Given the description of an element on the screen output the (x, y) to click on. 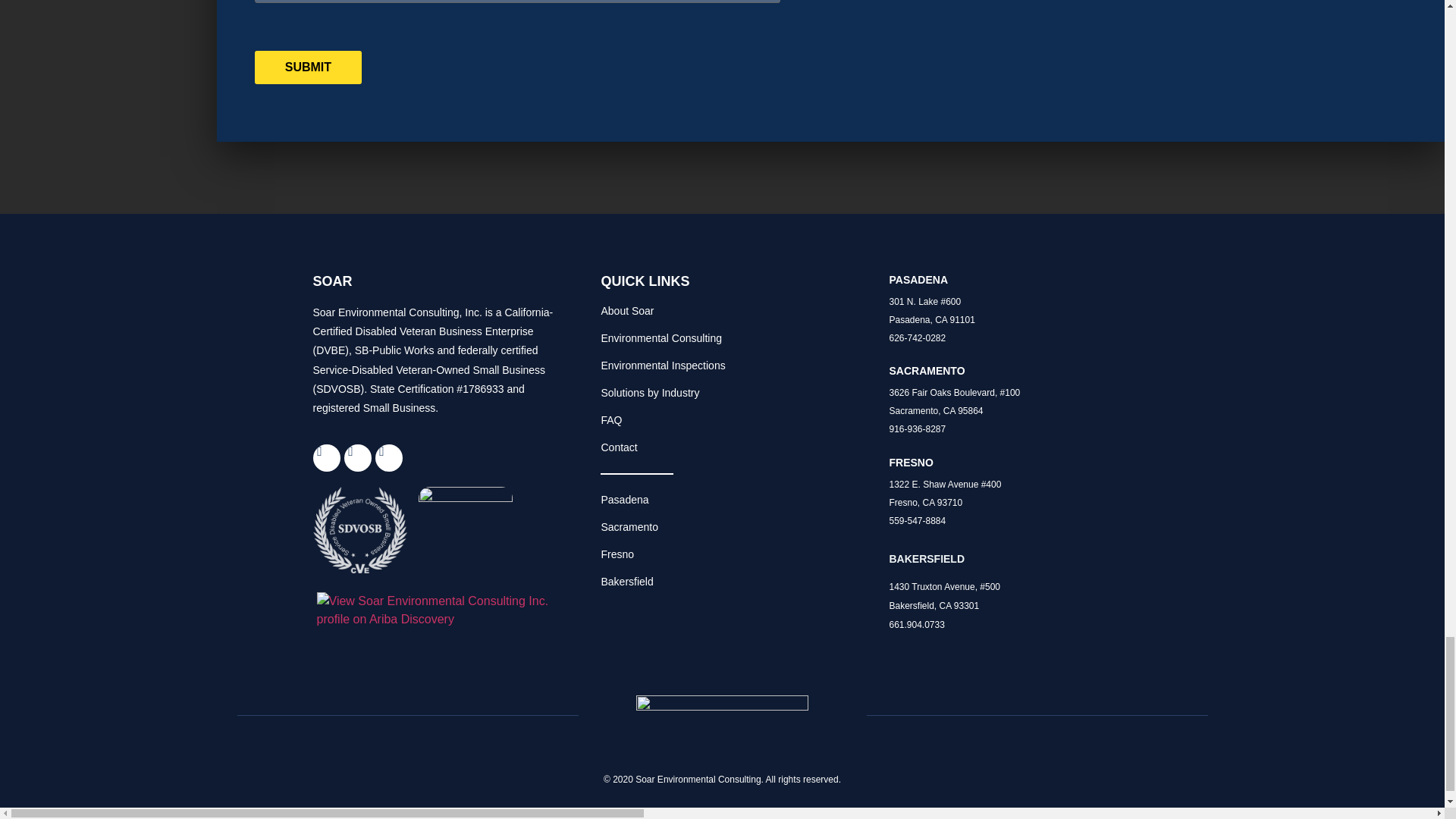
Submit (307, 67)
